Given the description of an element on the screen output the (x, y) to click on. 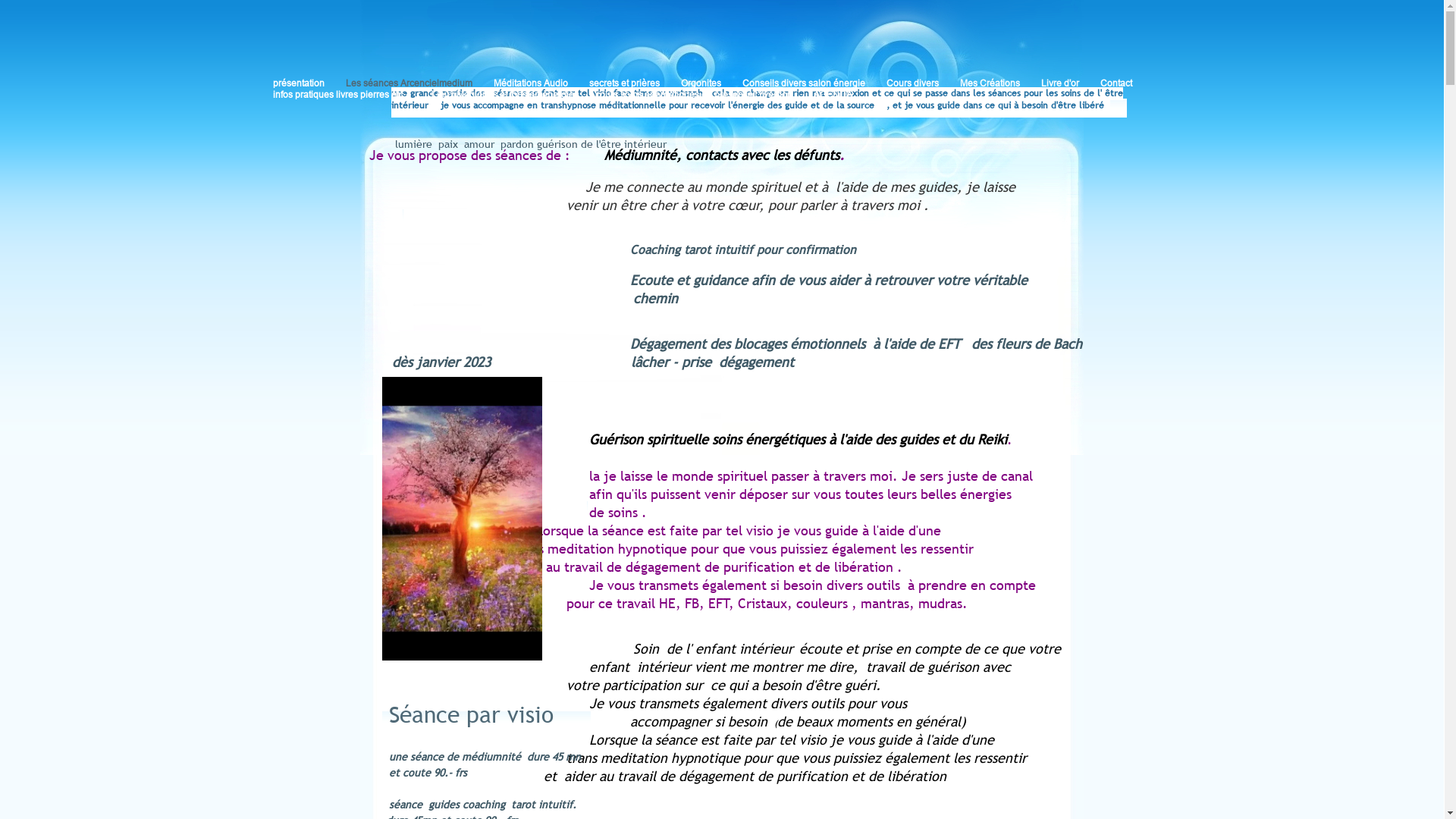
Cours divers Element type: text (923, 82)
Orgonites Element type: text (711, 82)
Livre d'or Element type: text (1070, 82)
infos pratiques livres pierres etc... Element type: text (352, 94)
AGENDA Element type: text (843, 94)
Contact Element type: text (1126, 82)
Lieux Magiques et forts en energie Element type: text (513, 94)
